Given the description of an element on the screen output the (x, y) to click on. 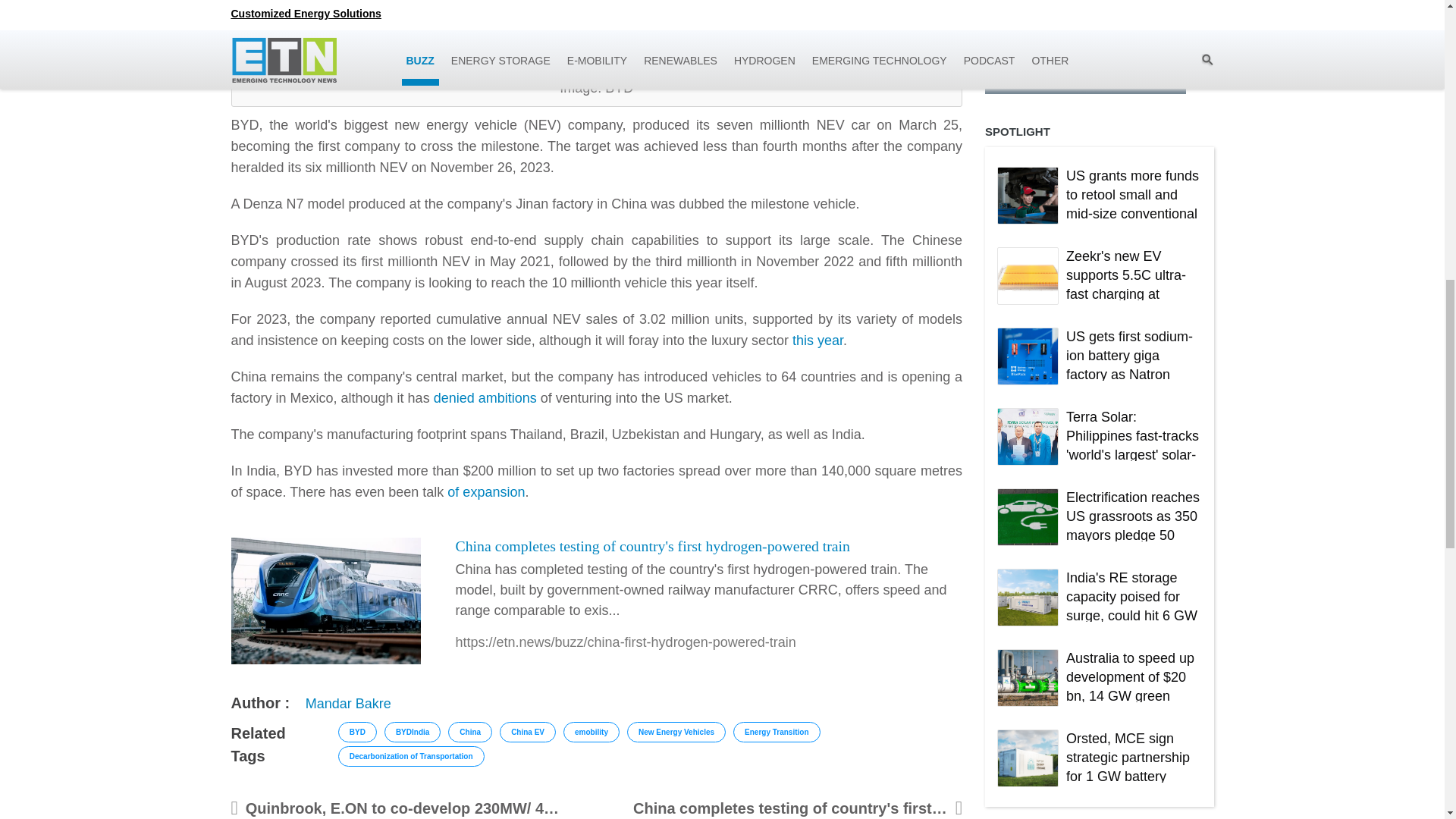
of expansion (485, 491)
BYDIndia (412, 731)
natron-energy (1027, 355)
Zeekr-battery (1027, 275)
this year (817, 340)
denied ambitions (485, 397)
